Given the description of an element on the screen output the (x, y) to click on. 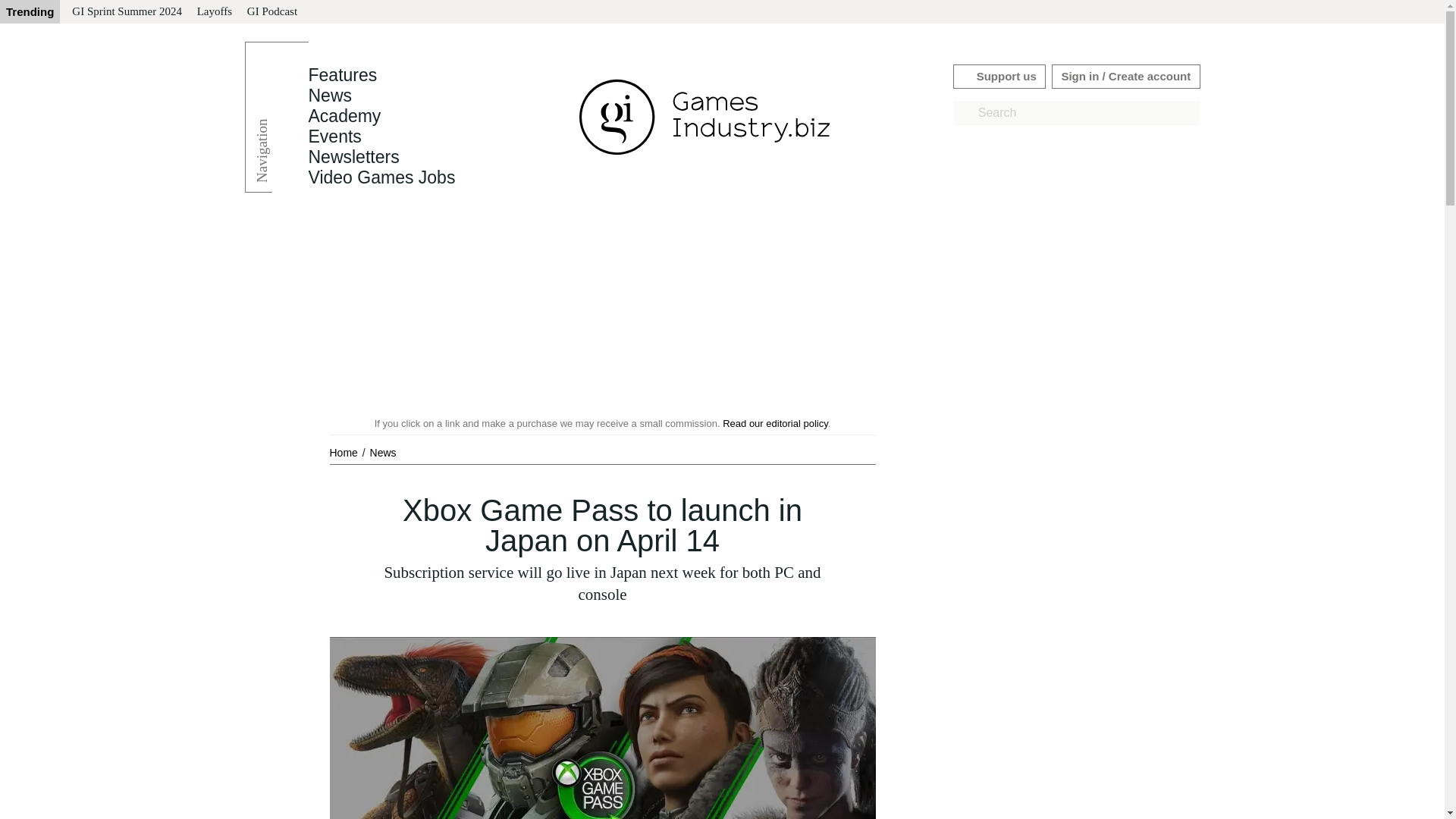
Home (344, 452)
News (329, 95)
GI Sprint Summer 2024 (126, 11)
GI Podcast (271, 11)
Support us (999, 75)
Newsletters (352, 157)
GI Podcast (271, 11)
GI Sprint Summer 2024 (126, 11)
Academy (343, 116)
News (329, 95)
News (382, 452)
Home (344, 452)
Layoffs (214, 11)
Video Games Jobs (380, 177)
Video Games Jobs (380, 177)
